Given the description of an element on the screen output the (x, y) to click on. 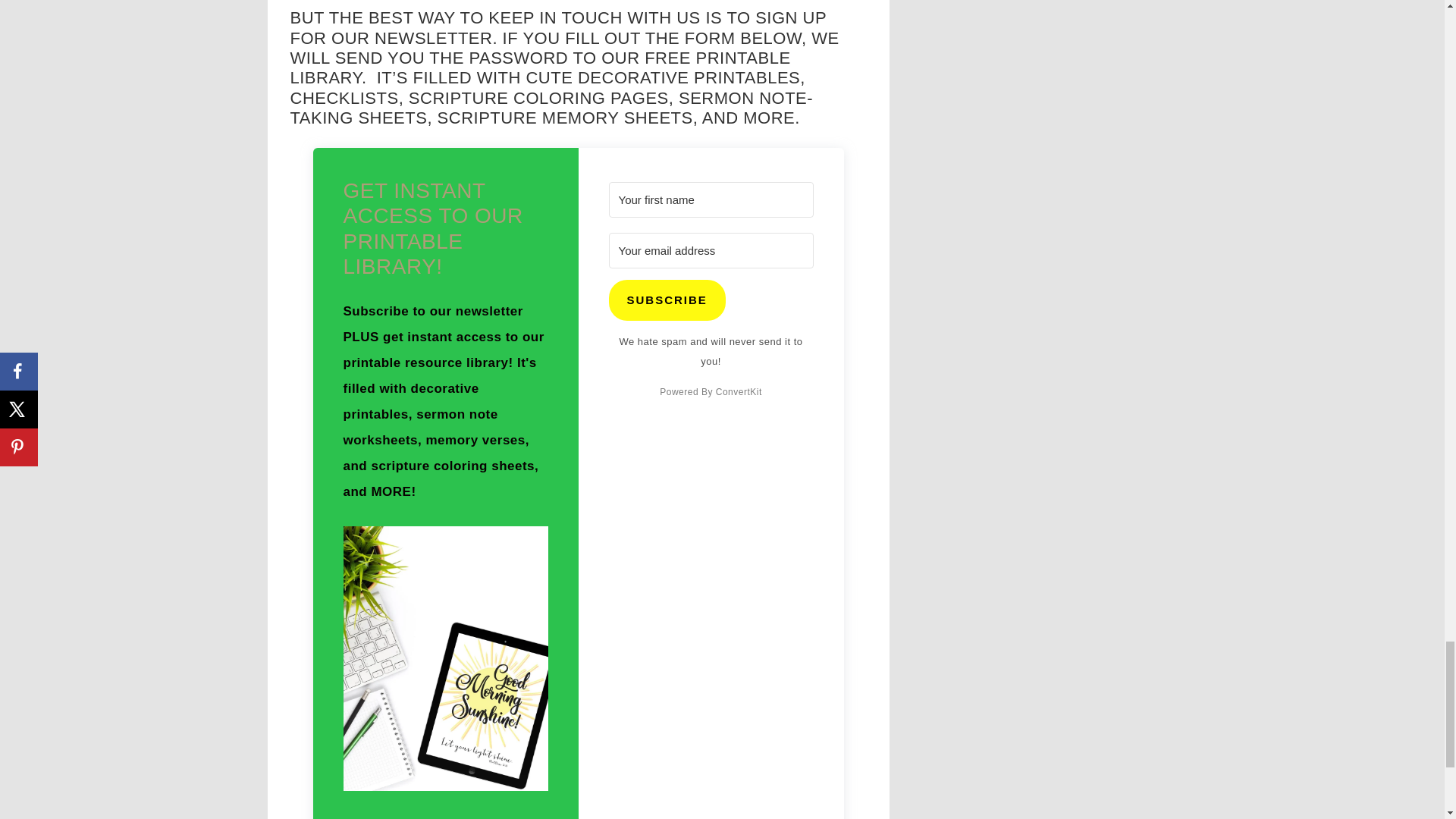
Powered By ConvertKit (710, 392)
SUBSCRIBE (666, 300)
